Given the description of an element on the screen output the (x, y) to click on. 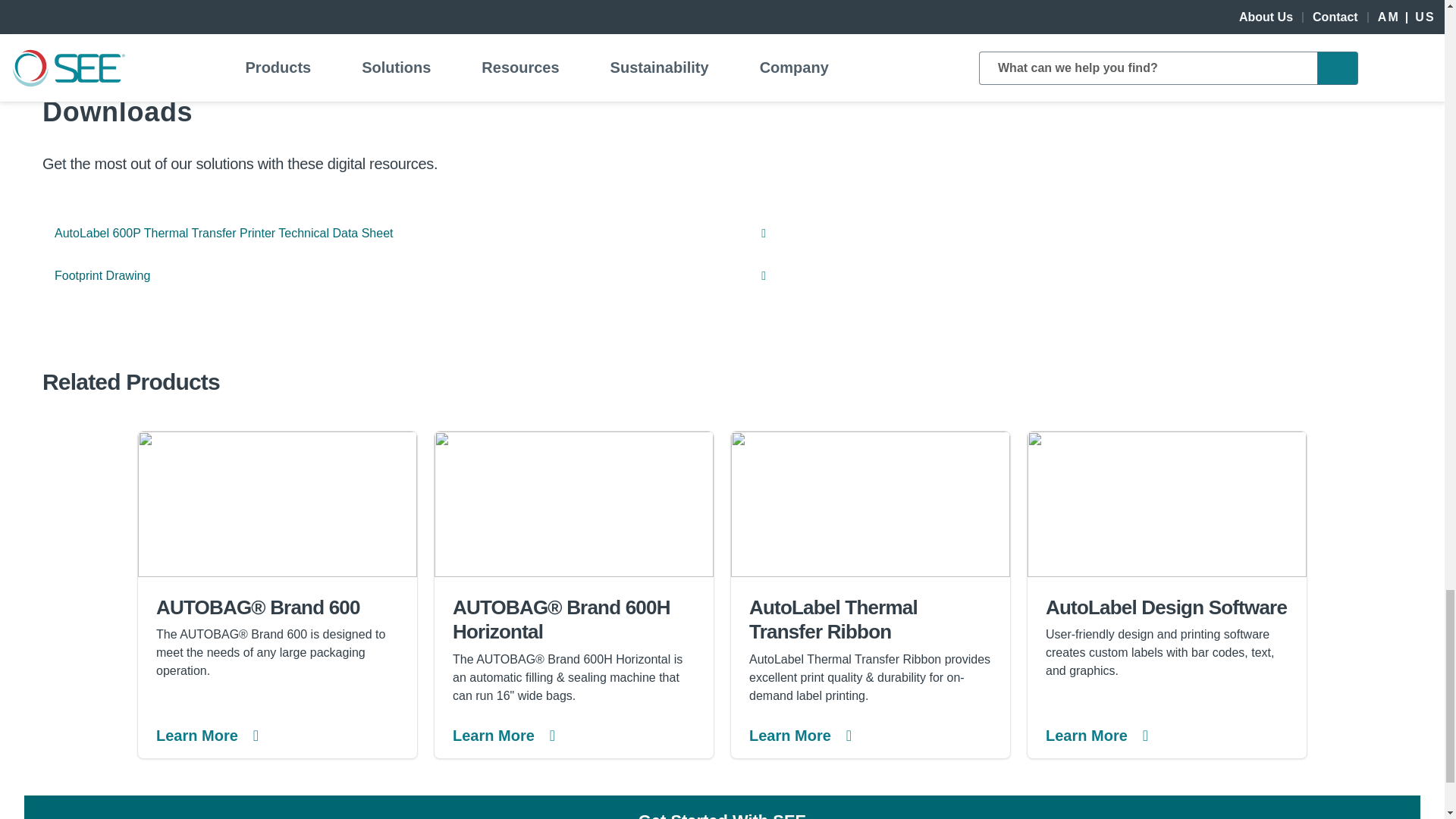
Industrial digital printing (1166, 504)
